Given the description of an element on the screen output the (x, y) to click on. 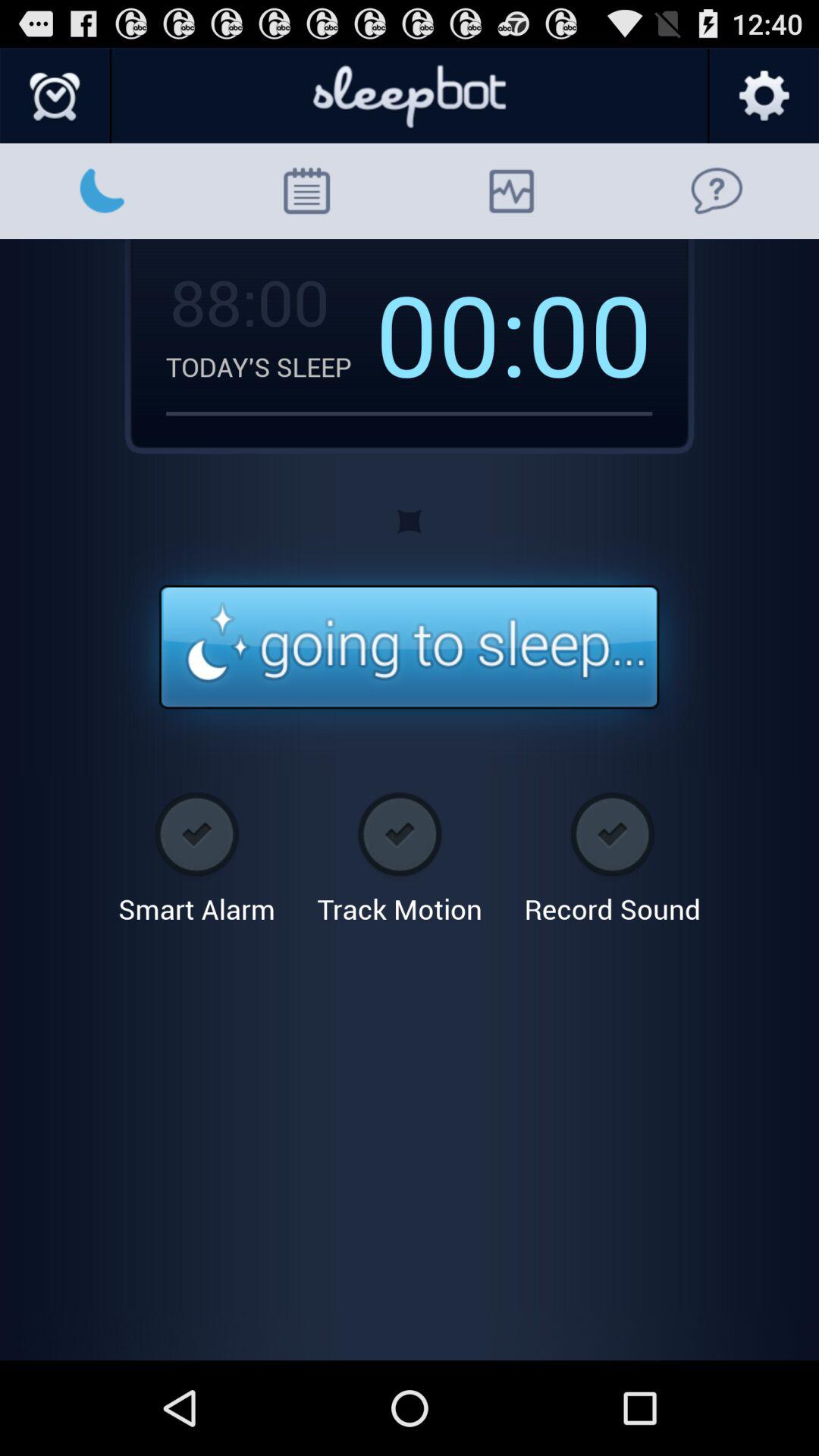
toggle sleep (408, 647)
